Given the description of an element on the screen output the (x, y) to click on. 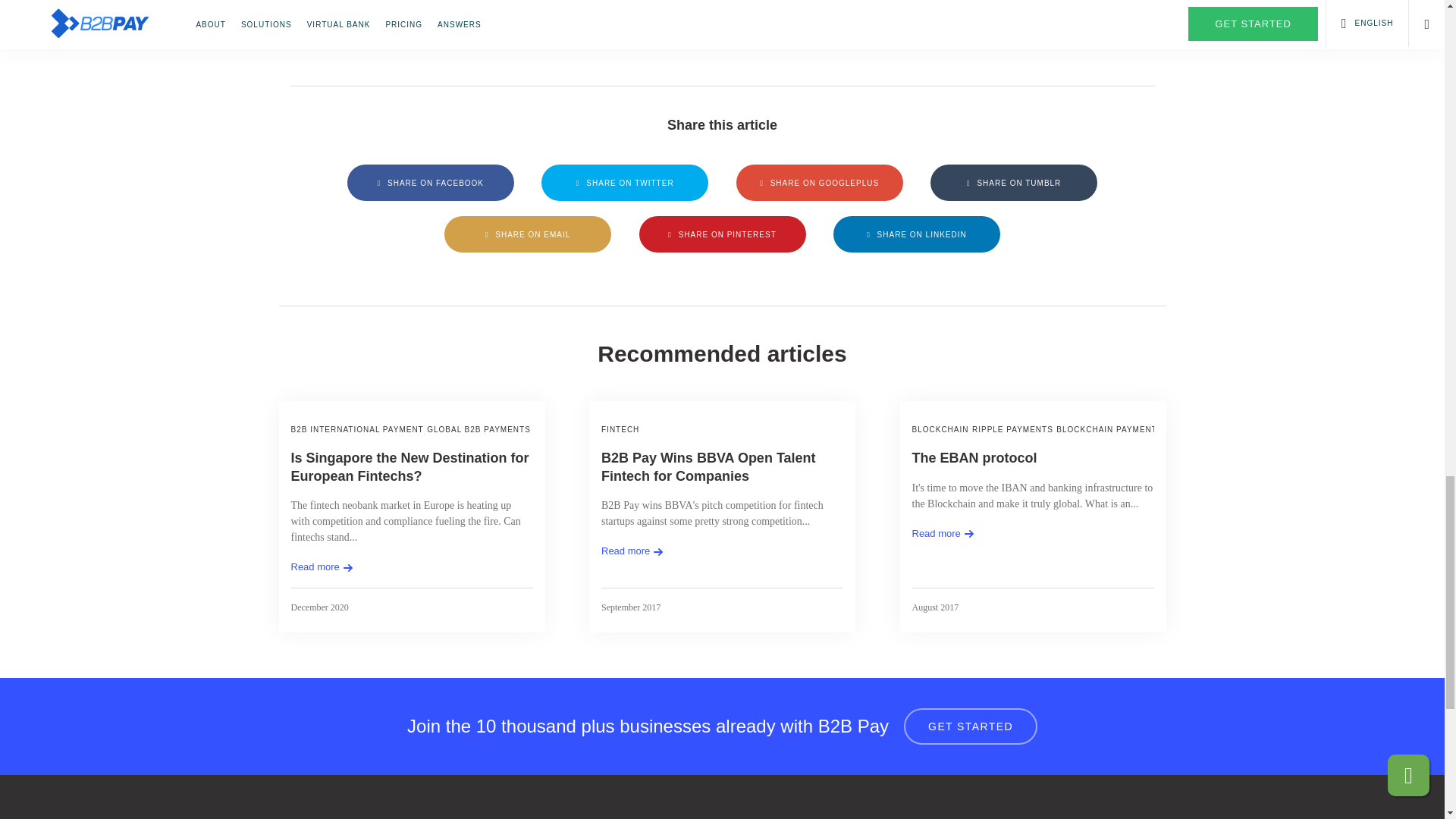
SHARE ON EMAIL (527, 234)
SHARE ON TWITTER (624, 182)
SHARE ON PINTEREST (722, 234)
SHARE ON TUMBLR (1013, 182)
SHARE ON FACEBOOK (430, 182)
here (467, 39)
SHARE ON GOOGLEPLUS (819, 182)
SHARE ON LINKEDIN (916, 234)
